Given the description of an element on the screen output the (x, y) to click on. 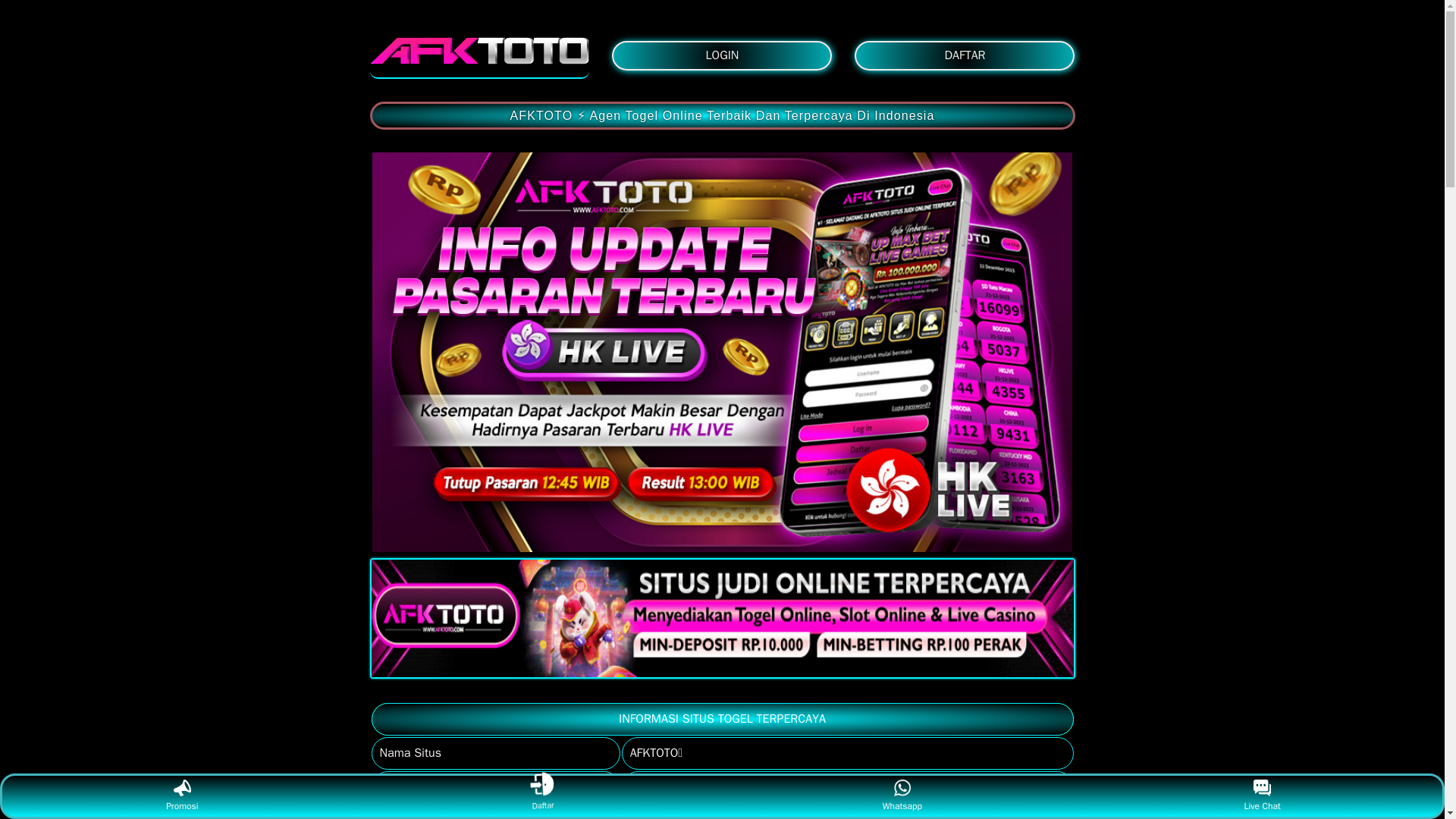
Whatsapp (901, 796)
Promosi (182, 796)
SITUS TOGEL (479, 50)
LOGIN (721, 55)
Live Chat (1261, 796)
Daftar (543, 796)
DAFTAR (964, 55)
AFKTOTO; Situs Toto Togel 4D 10 Juta Hadiah Terbesar Di Asia (722, 617)
